Given the description of an element on the screen output the (x, y) to click on. 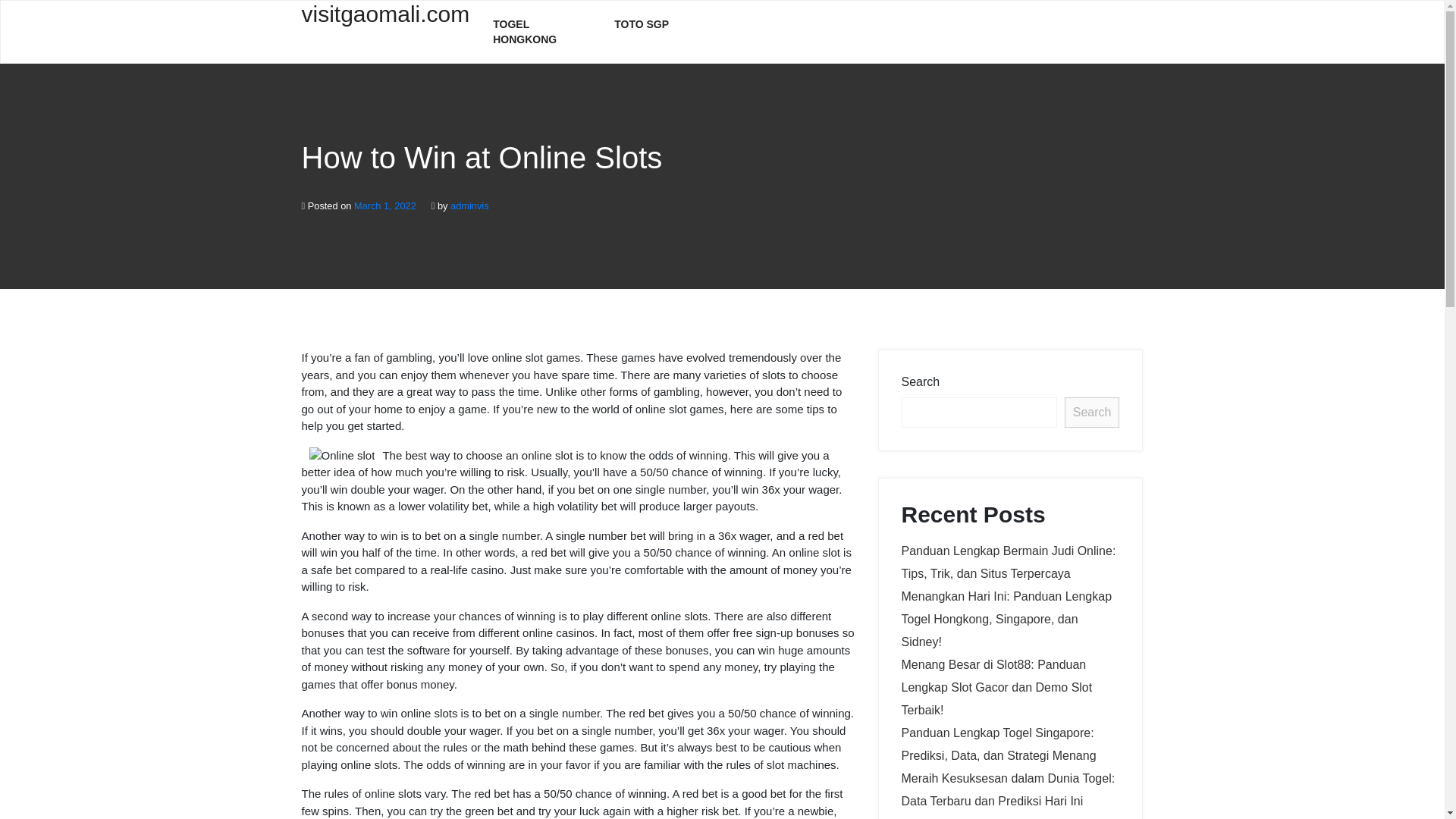
Search (1091, 412)
March 1, 2022 (384, 205)
adminvis (469, 205)
Togel Hongkong (541, 31)
visitgaomali.com (385, 22)
